Given the description of an element on the screen output the (x, y) to click on. 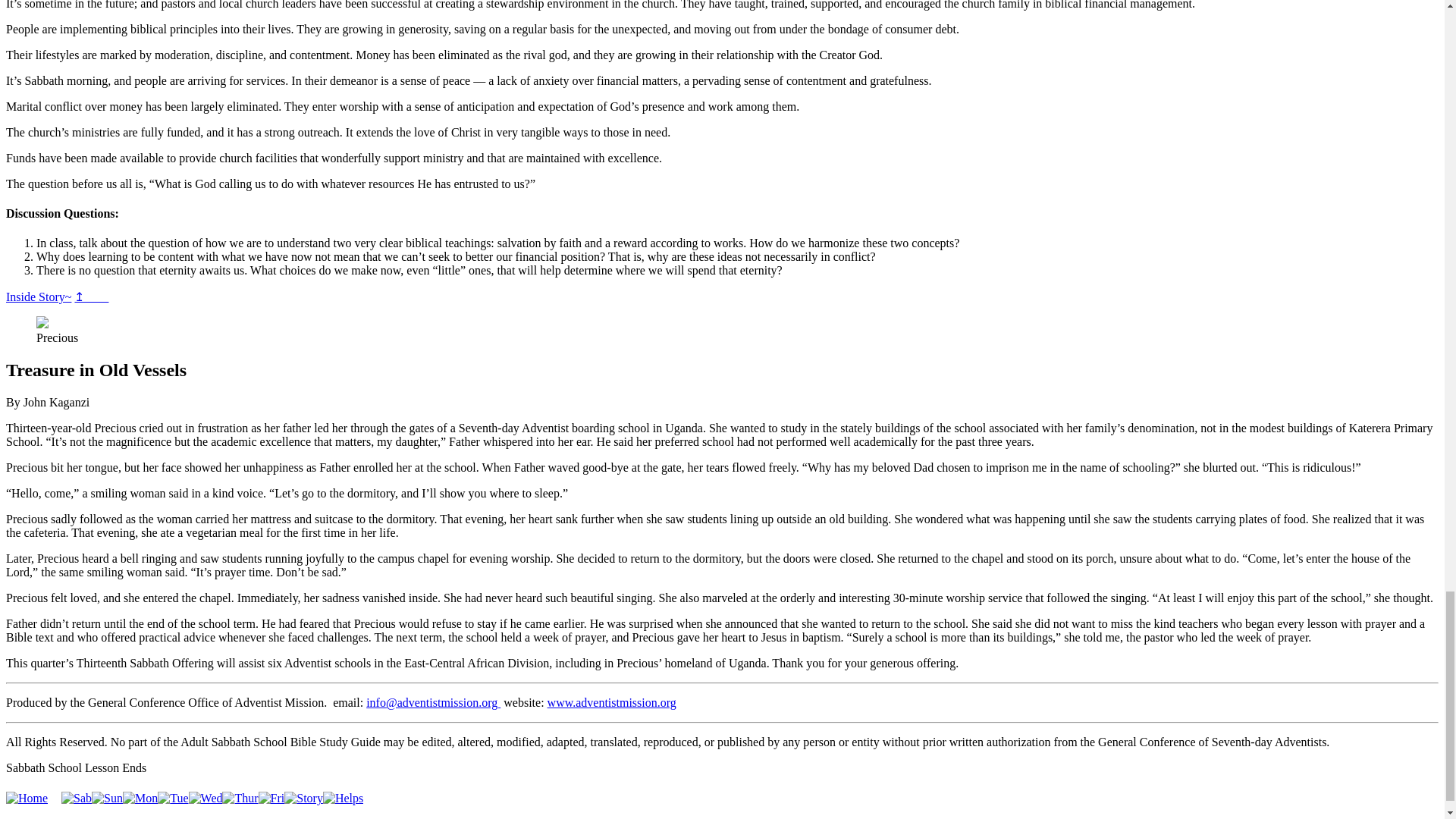
Go to top of the page (90, 296)
www.adventistmission.org (612, 702)
Align Upwards (38, 296)
